Given the description of an element on the screen output the (x, y) to click on. 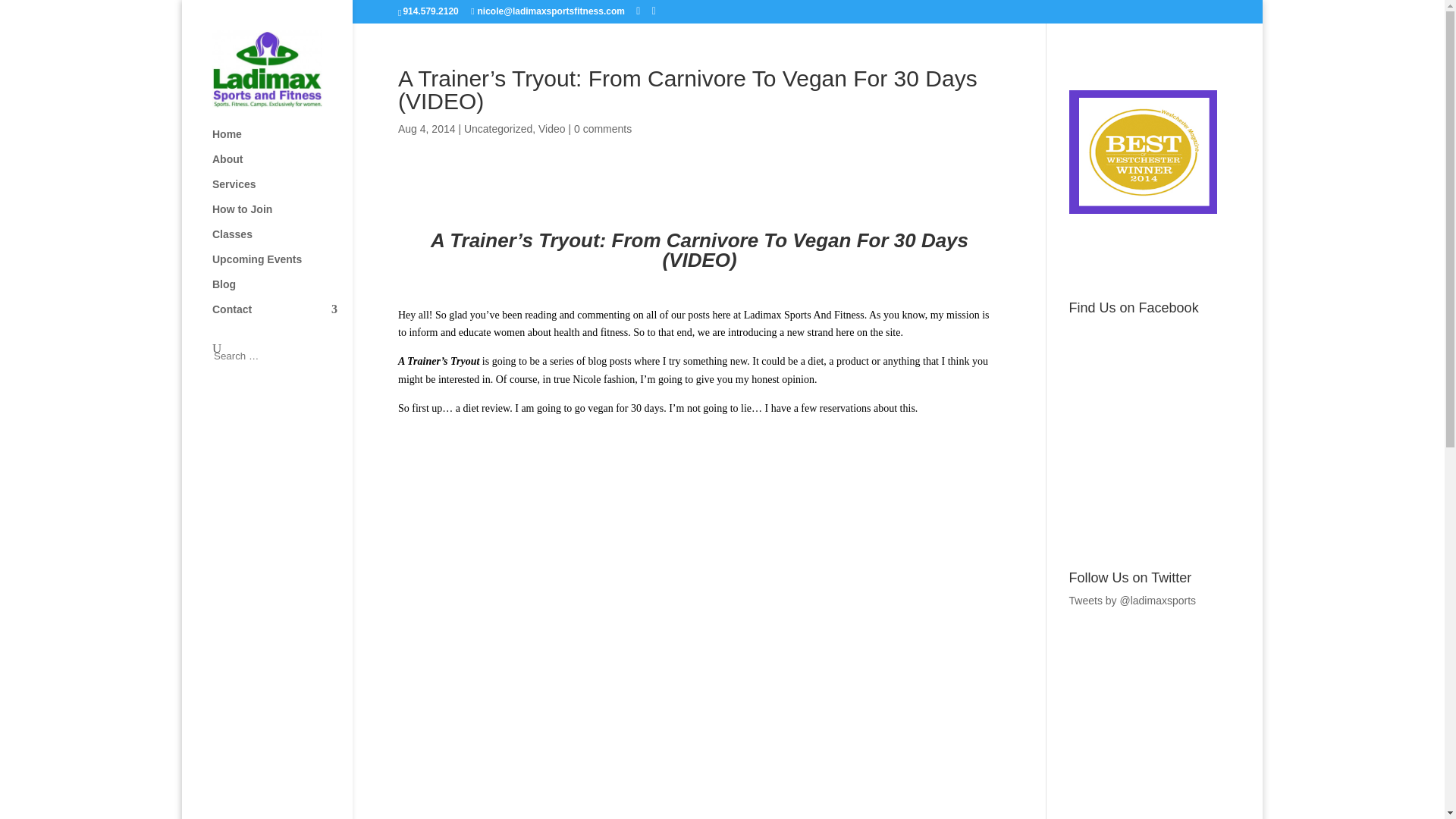
About (282, 166)
Video (552, 128)
Classes (282, 241)
View all posts in Uncategorized (498, 128)
How to Join (282, 216)
Services (282, 191)
Uncategorized (498, 128)
View all posts in Video (552, 128)
Upcoming Events (282, 266)
Contact (282, 316)
